Given the description of an element on the screen output the (x, y) to click on. 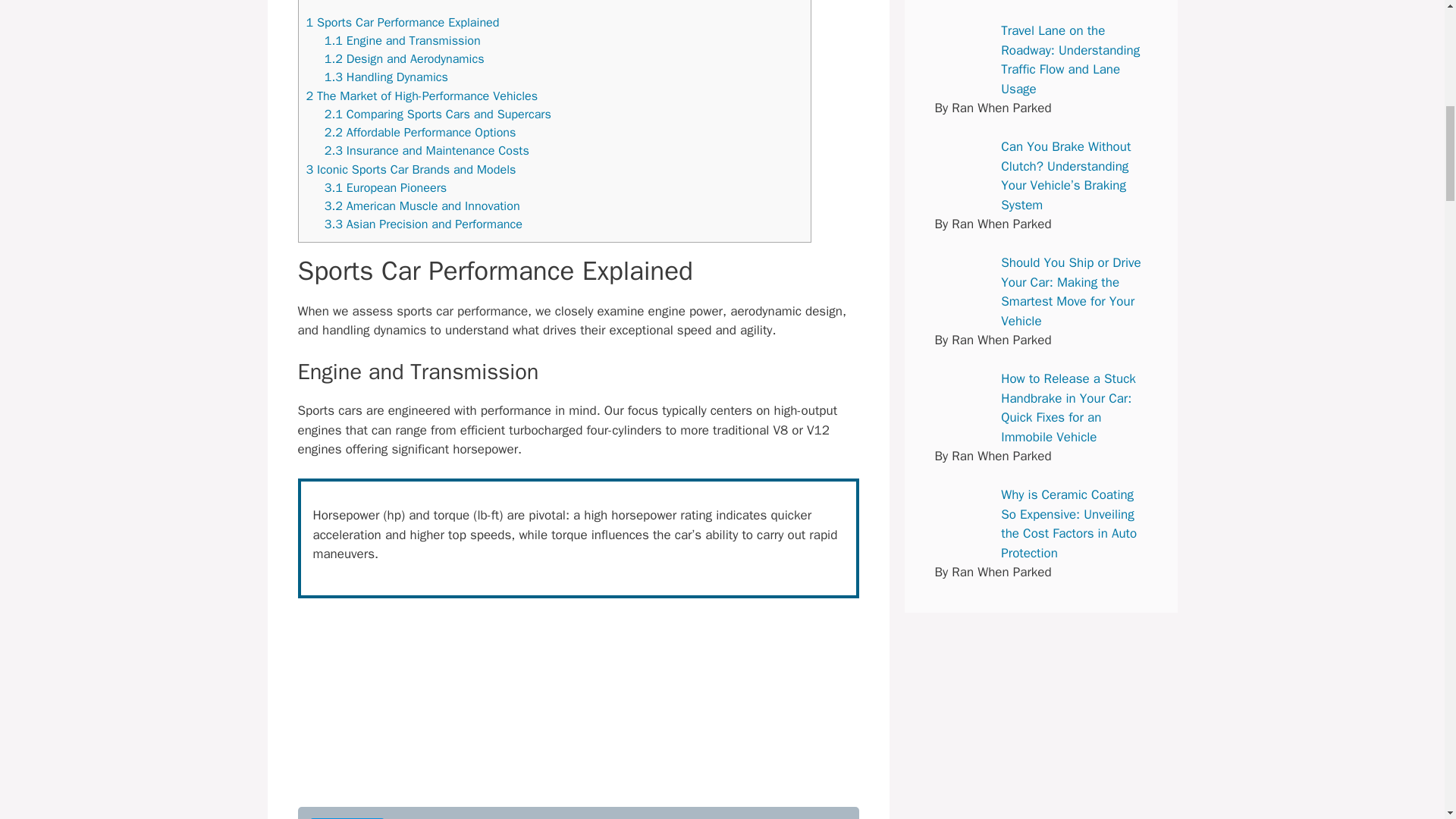
2.3 Insurance and Maintenance Costs (426, 150)
2.1 Comparing Sports Cars and Supercars (437, 114)
2.2 Affordable Performance Options (420, 132)
2 The Market of High-Performance Vehicles (421, 95)
1.1 Engine and Transmission (402, 40)
3 Iconic Sports Car Brands and Models (410, 169)
1.2 Design and Aerodynamics (404, 58)
1 Sports Car Performance Explained (402, 22)
1.3 Handling Dynamics (386, 76)
